Given the description of an element on the screen output the (x, y) to click on. 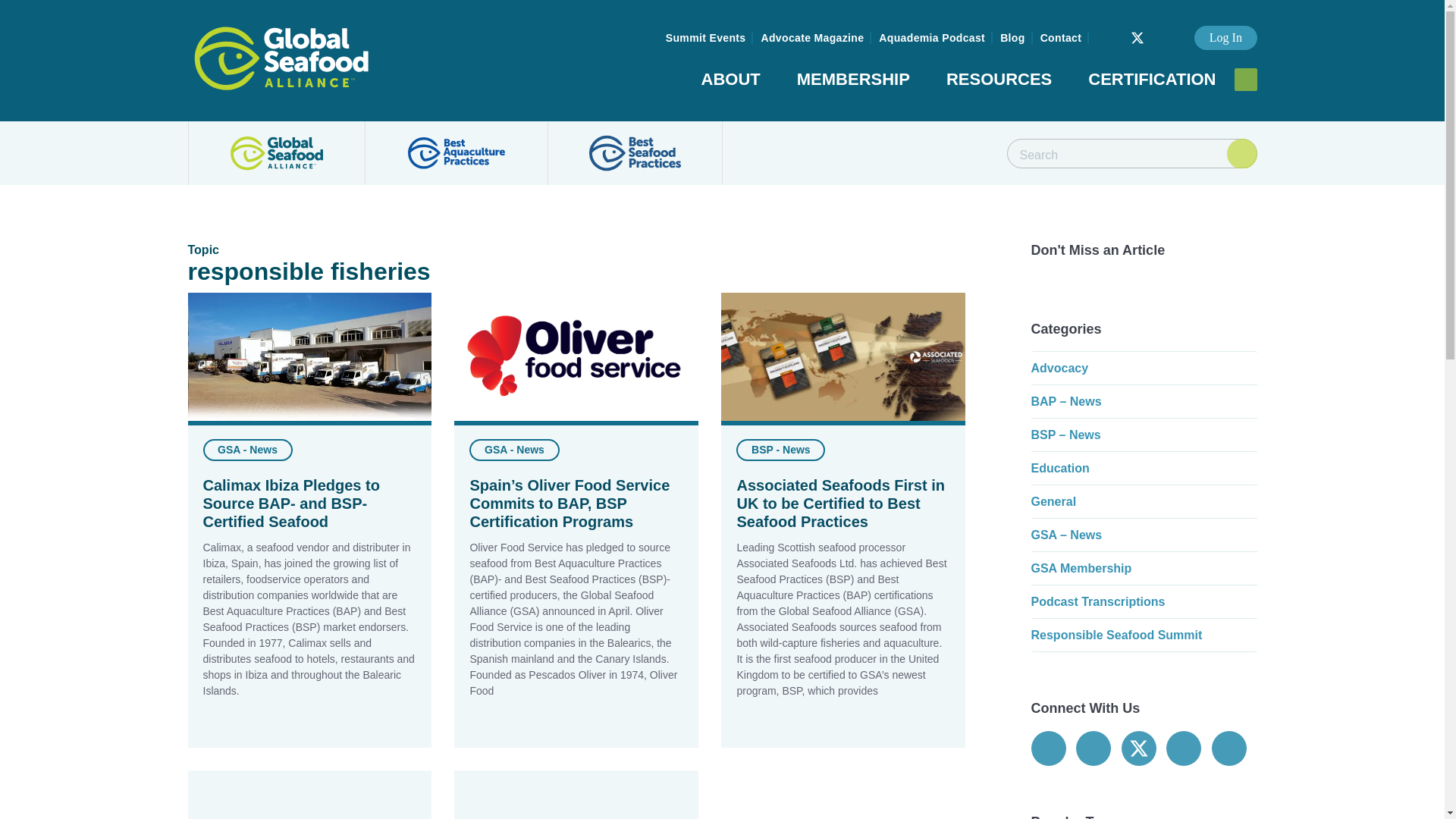
Log In (1224, 37)
Blog (1012, 37)
Advocate Magazine (811, 37)
To Homepage (280, 58)
RESOURCES (999, 81)
CERTIFICATION (1151, 81)
YouTube (1174, 30)
Summit Events (706, 37)
LinkedIn (1159, 30)
ABOUT (730, 81)
Twitter (1136, 37)
Aquademia Podcast (931, 37)
Contact (1060, 37)
Open Search (1245, 78)
Facebook (1115, 30)
